Given the description of an element on the screen output the (x, y) to click on. 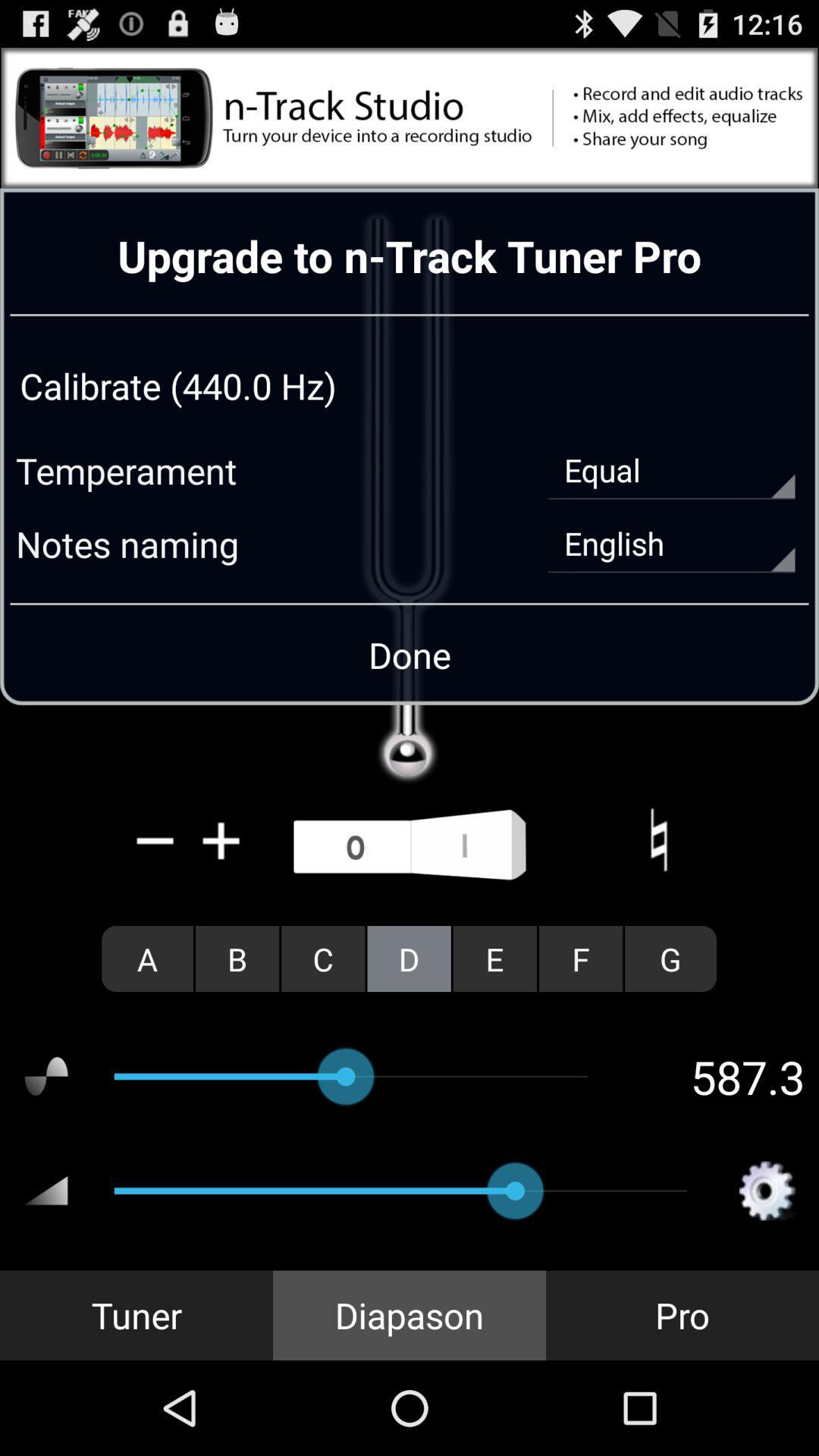
increase volume on the tuner (221, 840)
